Given the description of an element on the screen output the (x, y) to click on. 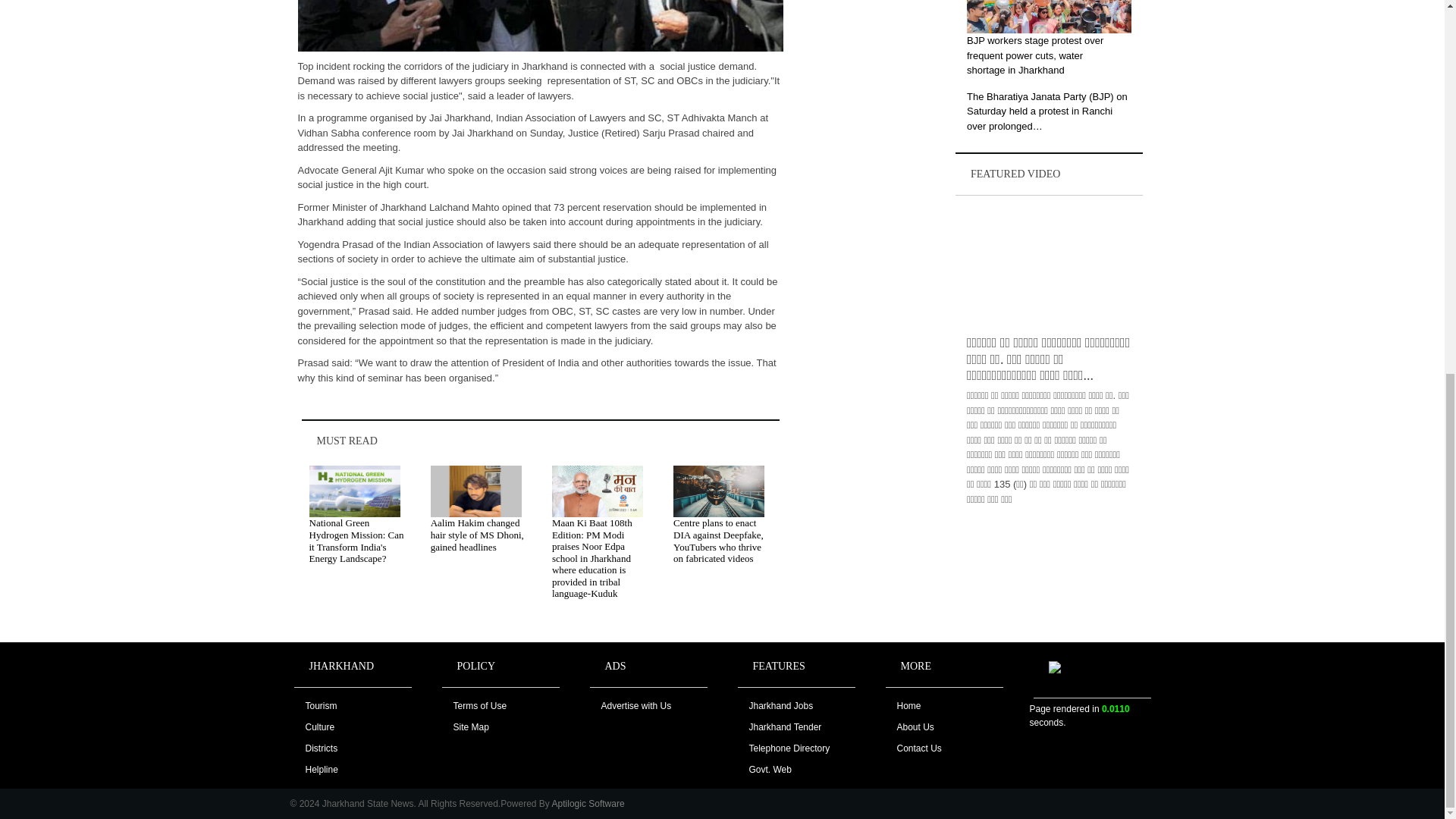
Aalim Hakim changed hair style of MS Dhoni, gained headlines (477, 534)
